Given the description of an element on the screen output the (x, y) to click on. 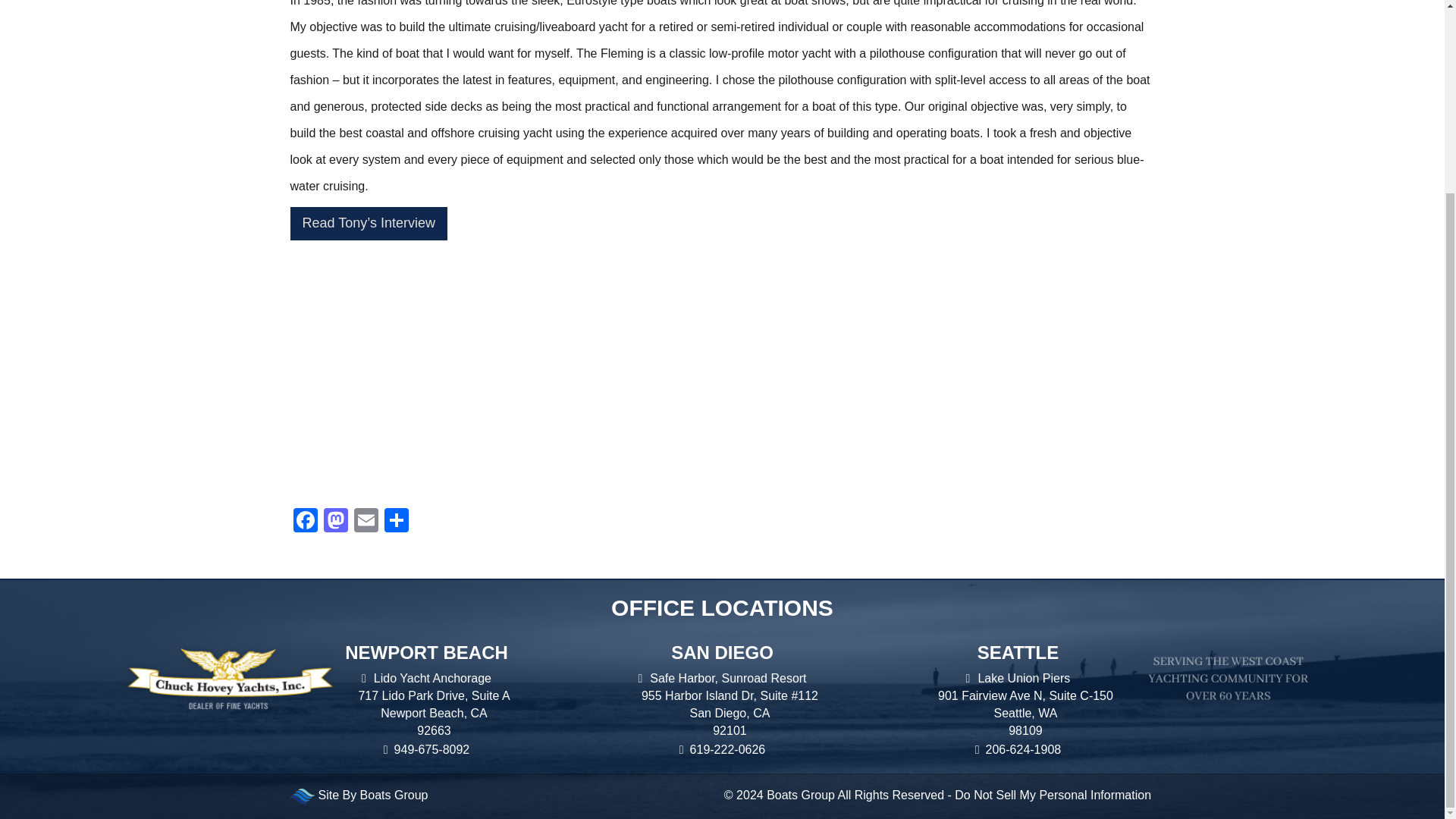
949-675-8092 (425, 750)
Email (365, 521)
Share (395, 521)
206-624-1908 (1017, 750)
Site By Boats Group (373, 794)
619-222-0626 (722, 750)
Facebook (304, 521)
Mastodon (335, 521)
